Given the description of an element on the screen output the (x, y) to click on. 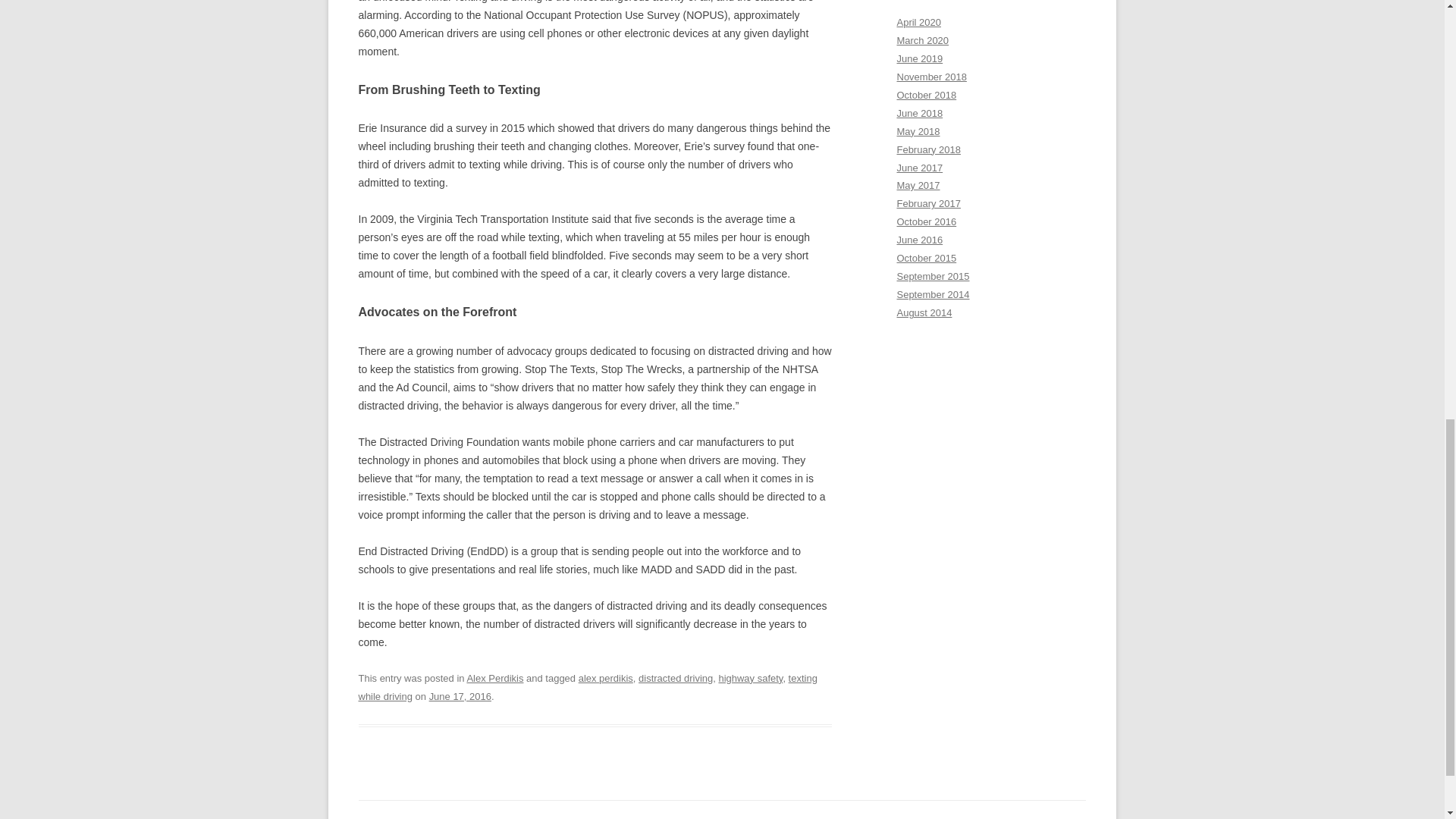
May 2018 (917, 131)
June 2019 (919, 58)
highway safety (750, 677)
12:37 am (460, 696)
June 17, 2016 (460, 696)
March 2020 (922, 40)
April 2020 (918, 21)
June 2018 (919, 112)
June 2017 (919, 167)
texting while driving (587, 686)
February 2018 (927, 149)
October 2018 (926, 94)
Alex Perdikis (493, 677)
May 2017 (917, 184)
distracted driving (676, 677)
